Given the description of an element on the screen output the (x, y) to click on. 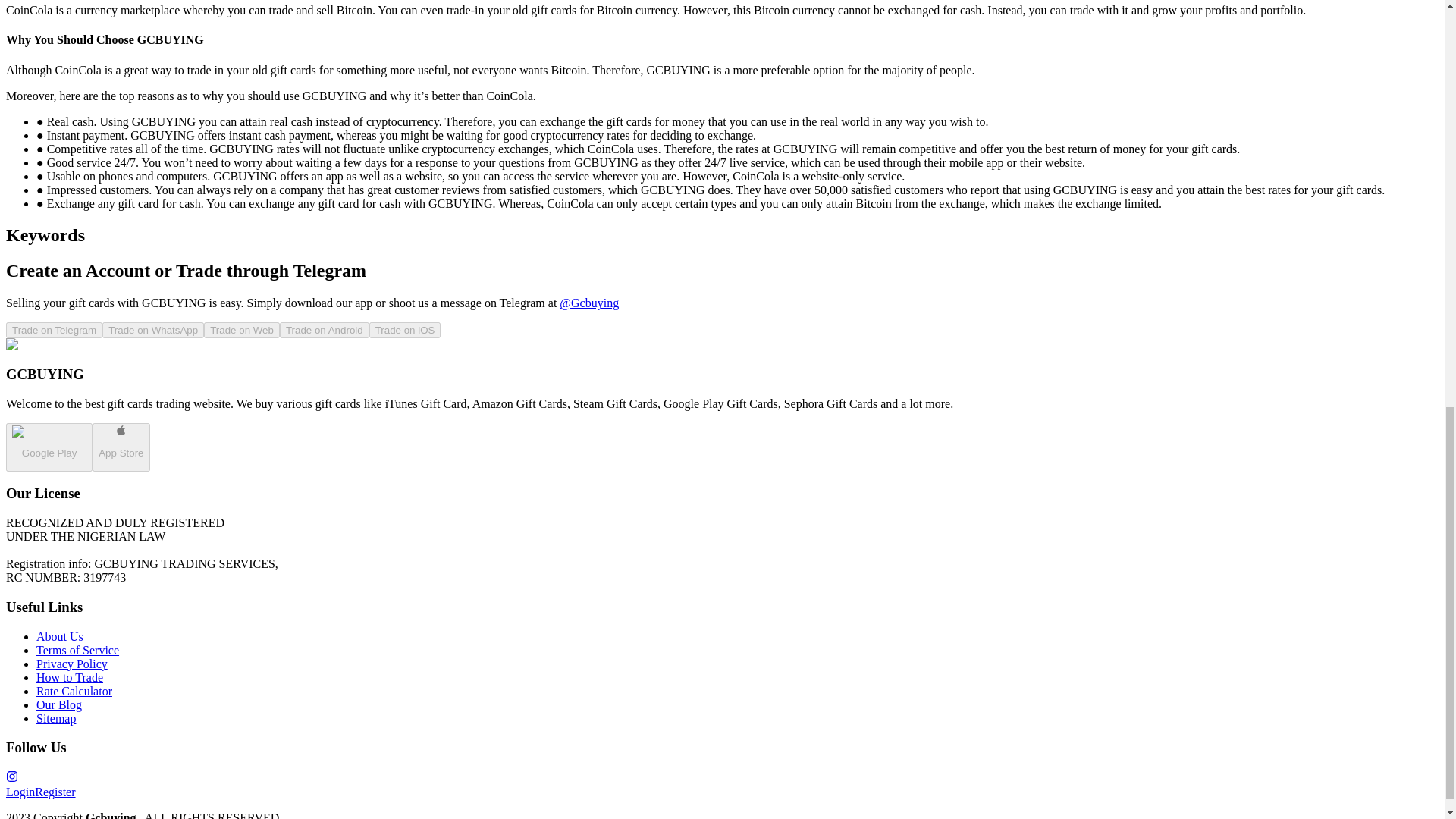
App Store (121, 447)
Trade on Web (241, 328)
Trade on WhatsApp (152, 330)
App Store (121, 451)
About Us (59, 635)
Terms of Service (77, 649)
Google Play (49, 451)
Trade on Telegram (53, 330)
Google Play (49, 447)
Trade on WhatsApp (152, 328)
Trade on Web (241, 330)
Trade on iOS (405, 330)
Trade on Android (324, 328)
Trade on iOS (405, 328)
Trade on Android (324, 330)
